Given the description of an element on the screen output the (x, y) to click on. 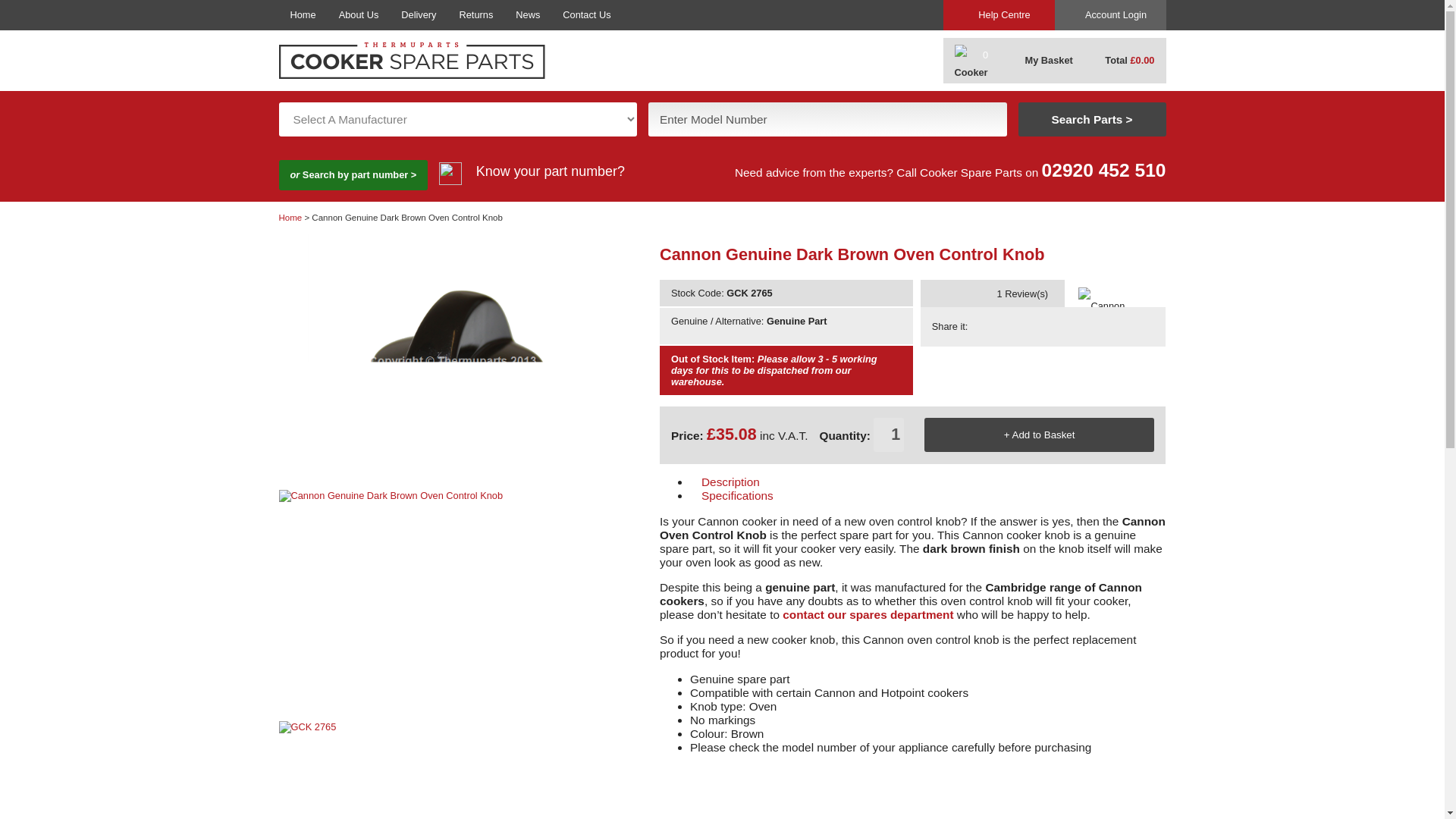
Specifications (809, 495)
02920 452 510 (1104, 169)
Home (303, 15)
Returns (476, 15)
Contact us (868, 614)
Delivery (418, 15)
Account (1110, 15)
Home (290, 216)
My Basket (1038, 60)
Leave a review (991, 314)
